Given the description of an element on the screen output the (x, y) to click on. 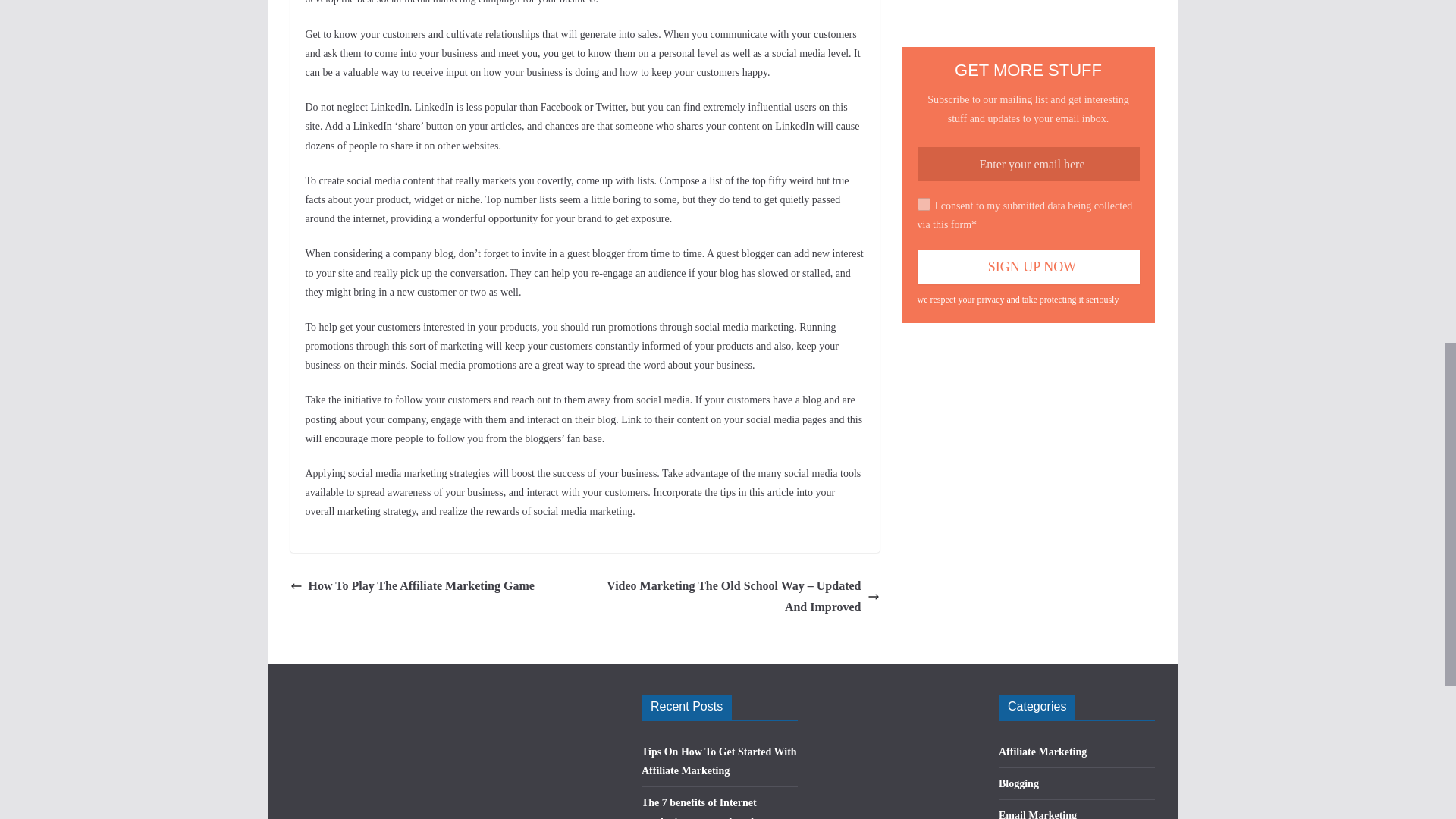
Sign Up Now (1028, 267)
on (923, 204)
How To Play The Affiliate Marketing Game (411, 586)
